Given the description of an element on the screen output the (x, y) to click on. 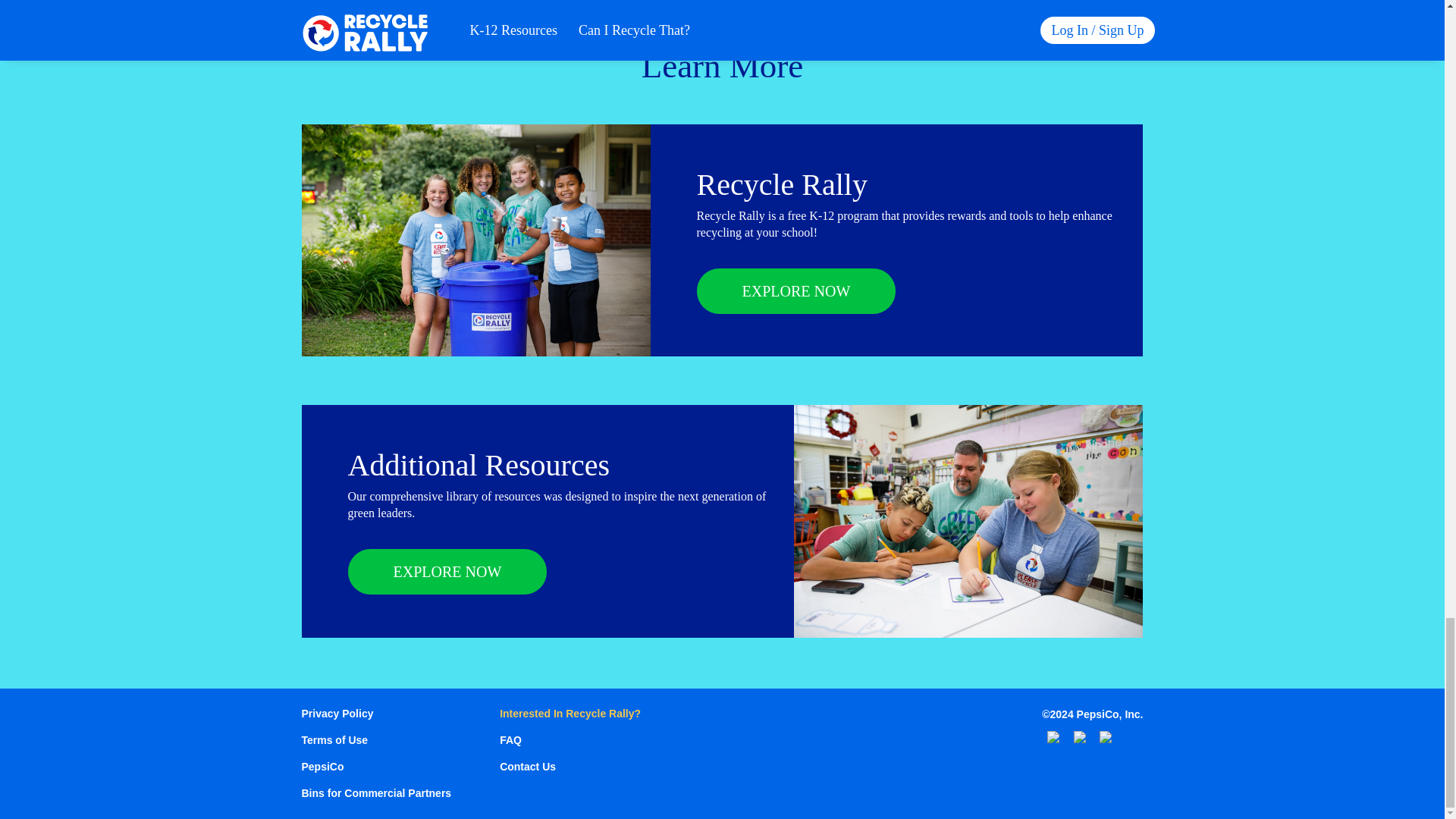
Terms of Use (376, 740)
EXPLORE NOW (795, 290)
Bins for Commercial Partners (376, 793)
PepsiCo (376, 766)
EXPLORE NOW (447, 571)
Contact Us (569, 766)
FAQ (569, 740)
Privacy Policy (376, 714)
